Given the description of an element on the screen output the (x, y) to click on. 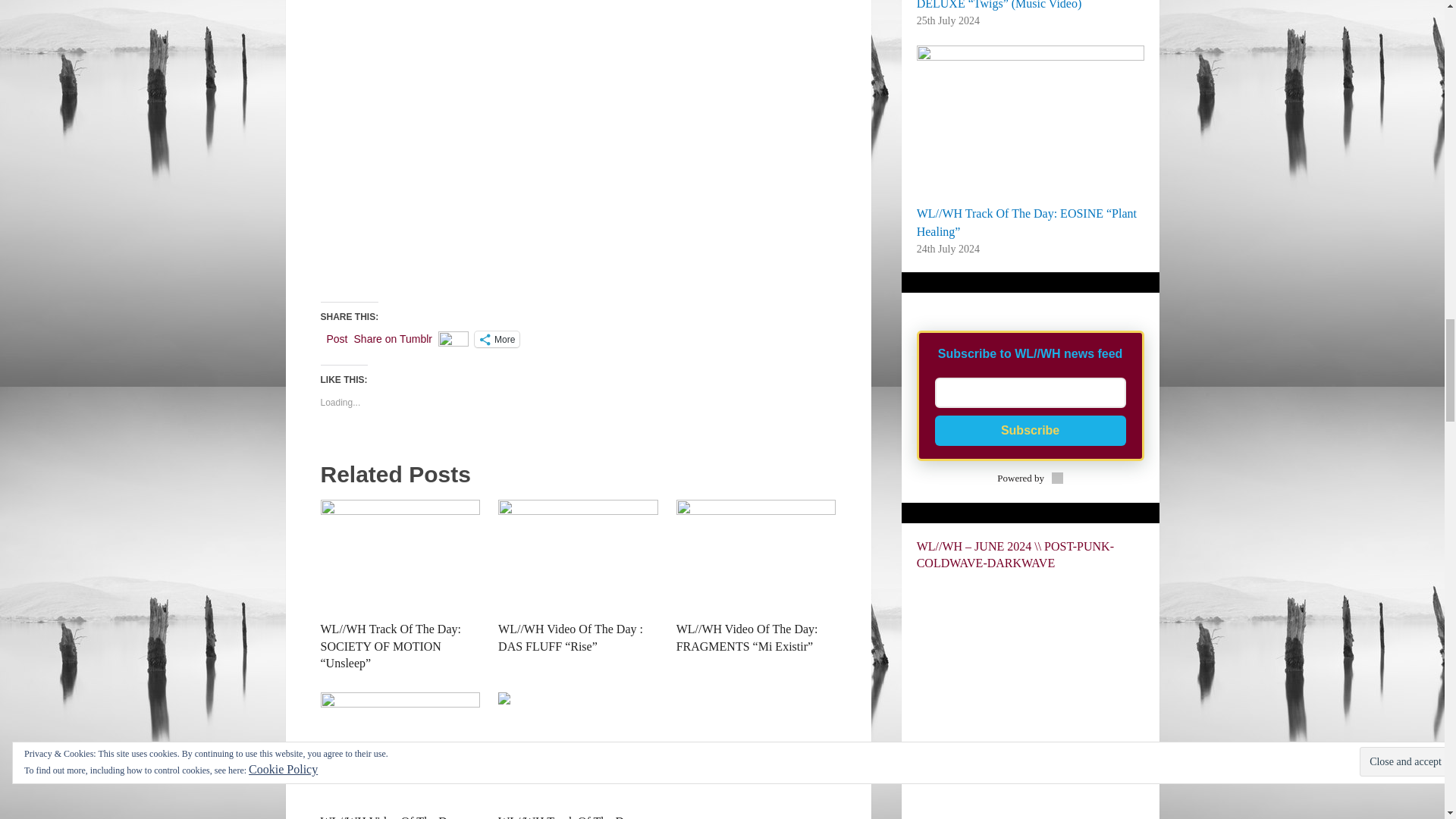
Share on Tumblr (392, 337)
